Given the description of an element on the screen output the (x, y) to click on. 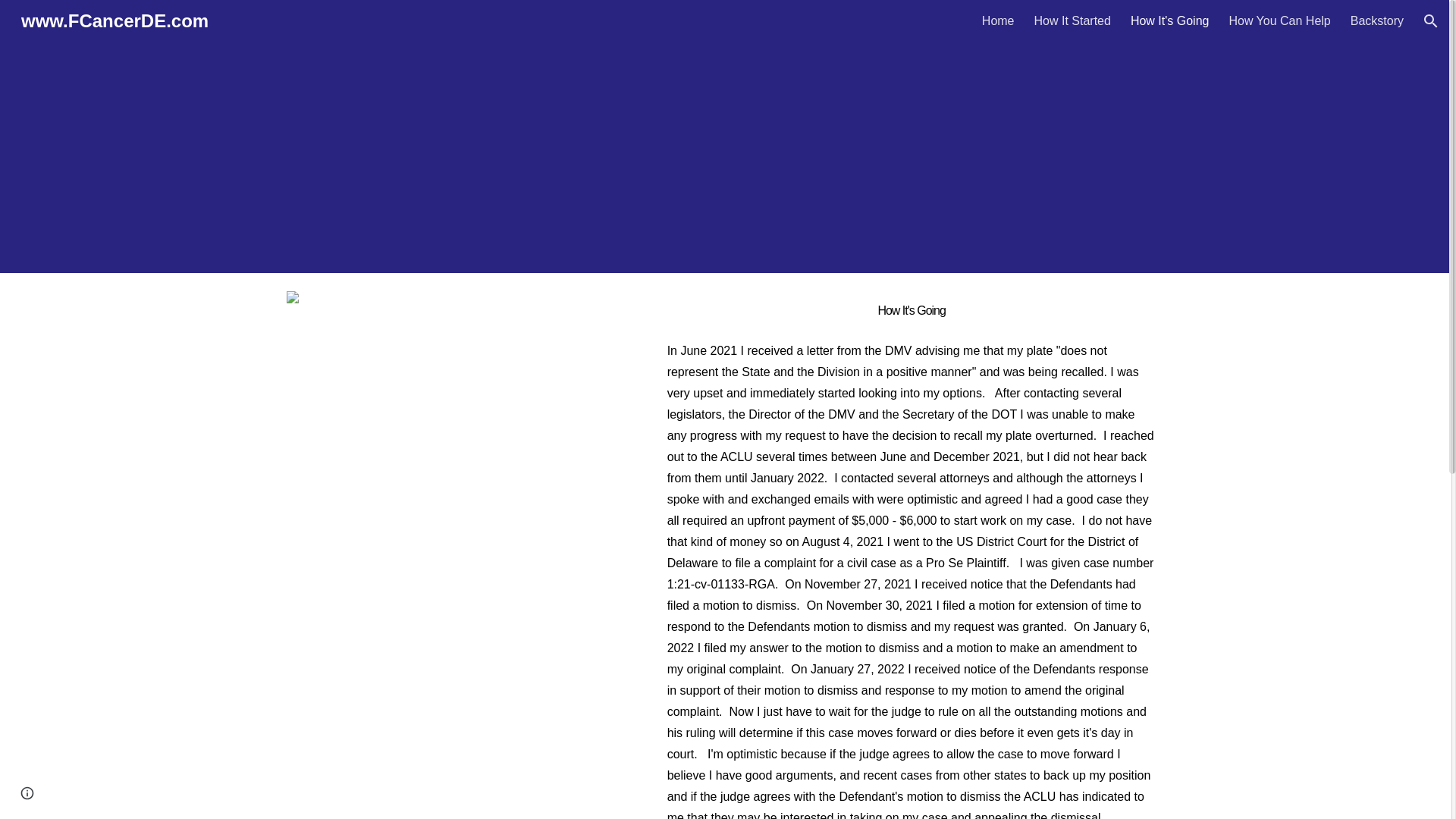
Backstory (1377, 20)
How It's Going (1170, 20)
How It Started (1071, 20)
www.FCancerDE.com (113, 19)
How You Can Help (1279, 20)
Home (997, 20)
